Given the description of an element on the screen output the (x, y) to click on. 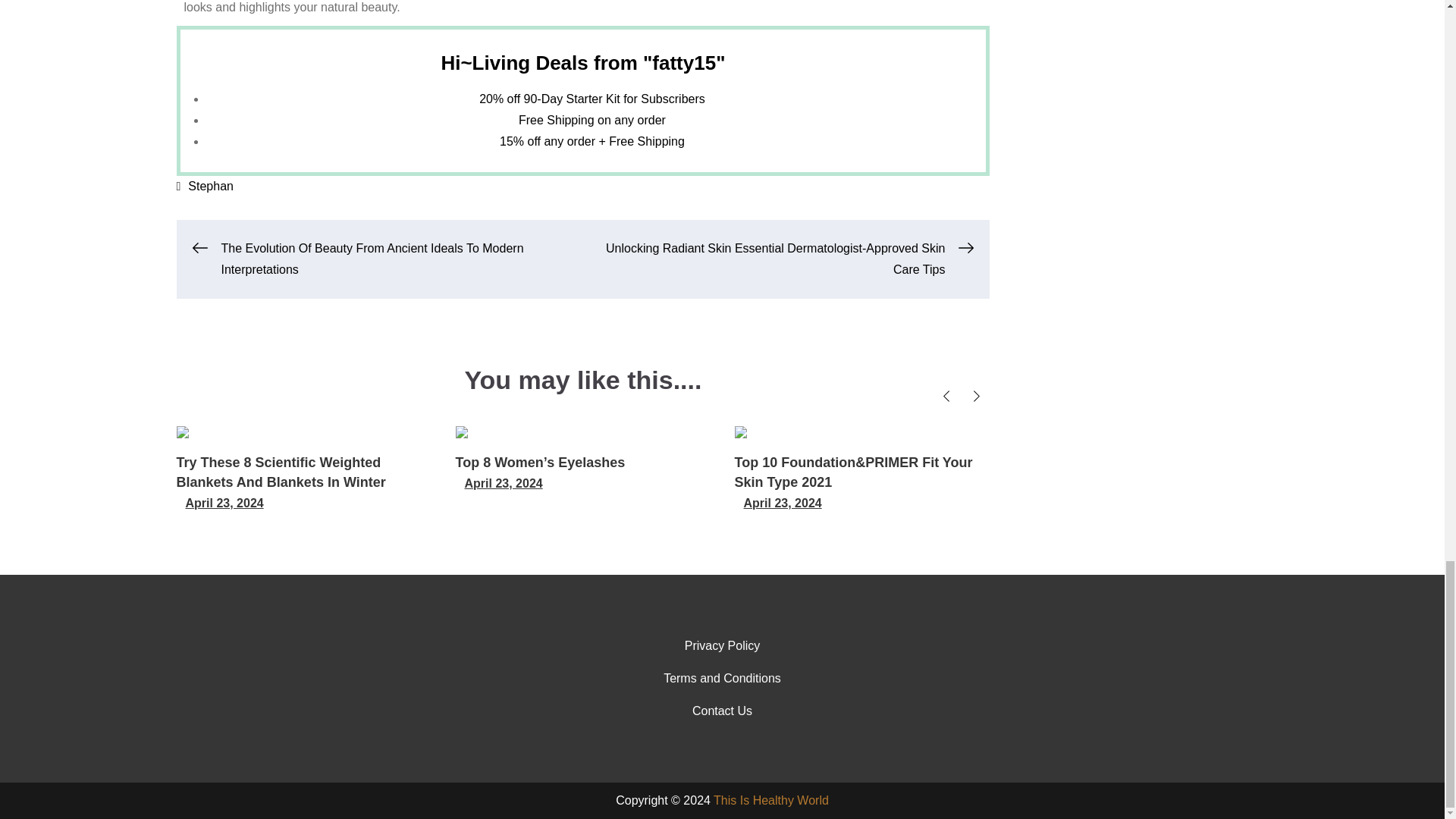
Previous (946, 396)
Free Shipping on any order (591, 119)
Stephan (209, 185)
